Given the description of an element on the screen output the (x, y) to click on. 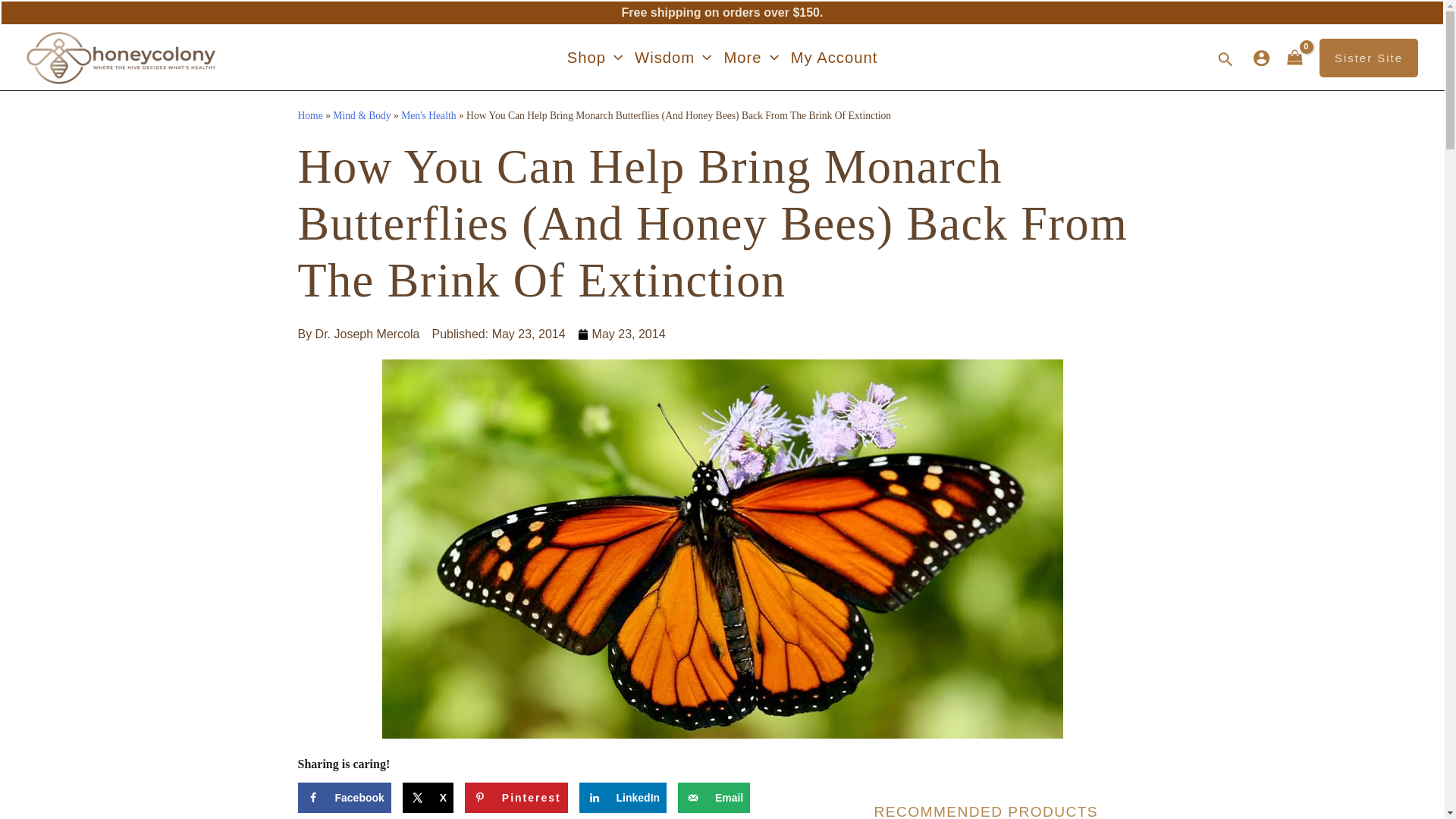
Save to Pinterest (515, 797)
Shop (594, 56)
Share on LinkedIn (622, 797)
Send over email (713, 797)
Share on X (427, 797)
Share on Facebook (343, 797)
